Given the description of an element on the screen output the (x, y) to click on. 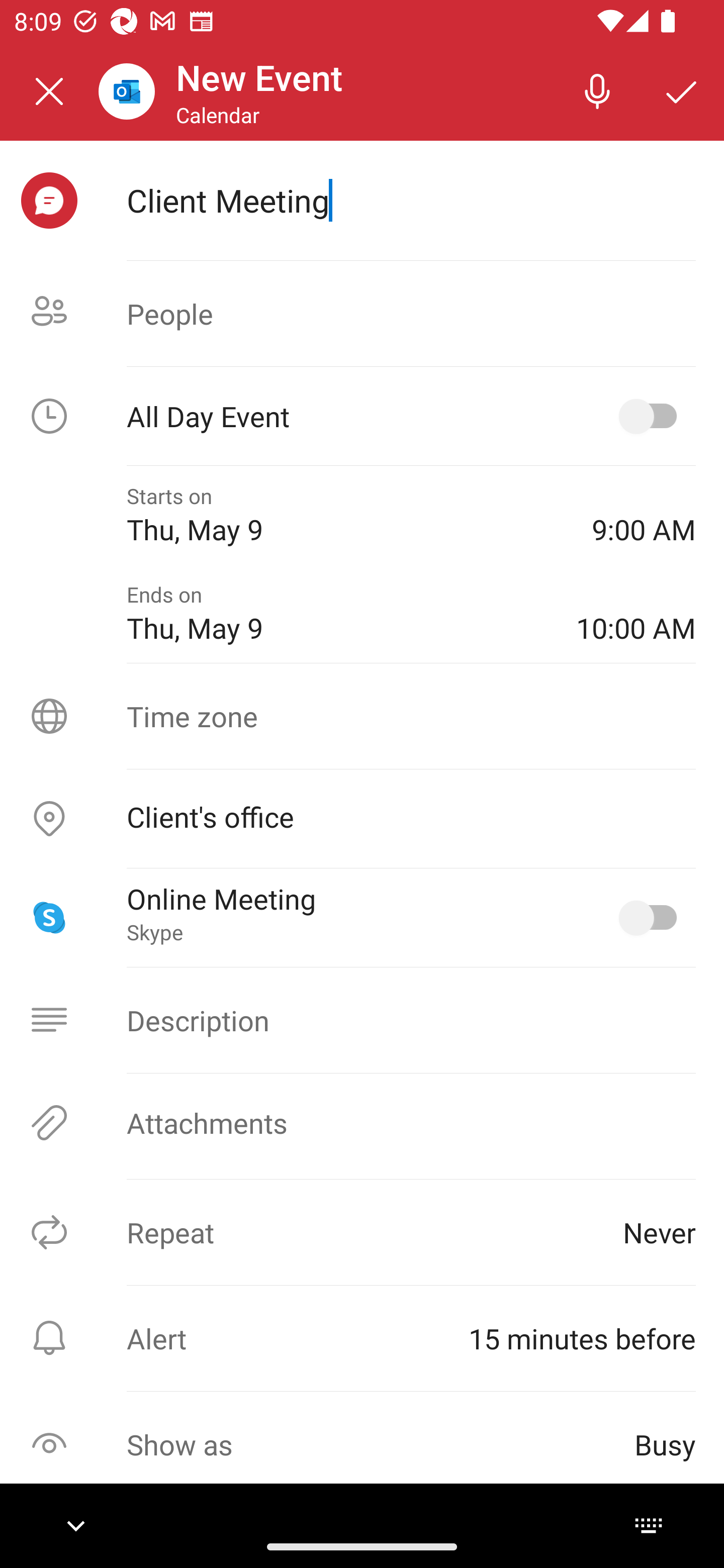
Close (49, 91)
Save (681, 90)
Client Meeting (410, 200)
meeting selected, event icon picker (48, 200)
People (362, 313)
All Day Event (362, 415)
Starts on Thu, May 9 (344, 514)
9:00 AM (643, 514)
Ends on Thu, May 9 (336, 613)
10:00 AM (635, 613)
Time zone (362, 715)
Location, Client's office Client's office (362, 818)
Online Meeting, Skype selected (651, 917)
Description (362, 1019)
Attachments (362, 1122)
Repeat Never (362, 1232)
Alert ⁨15 minutes before (362, 1337)
Show as Busy (362, 1444)
